Given the description of an element on the screen output the (x, y) to click on. 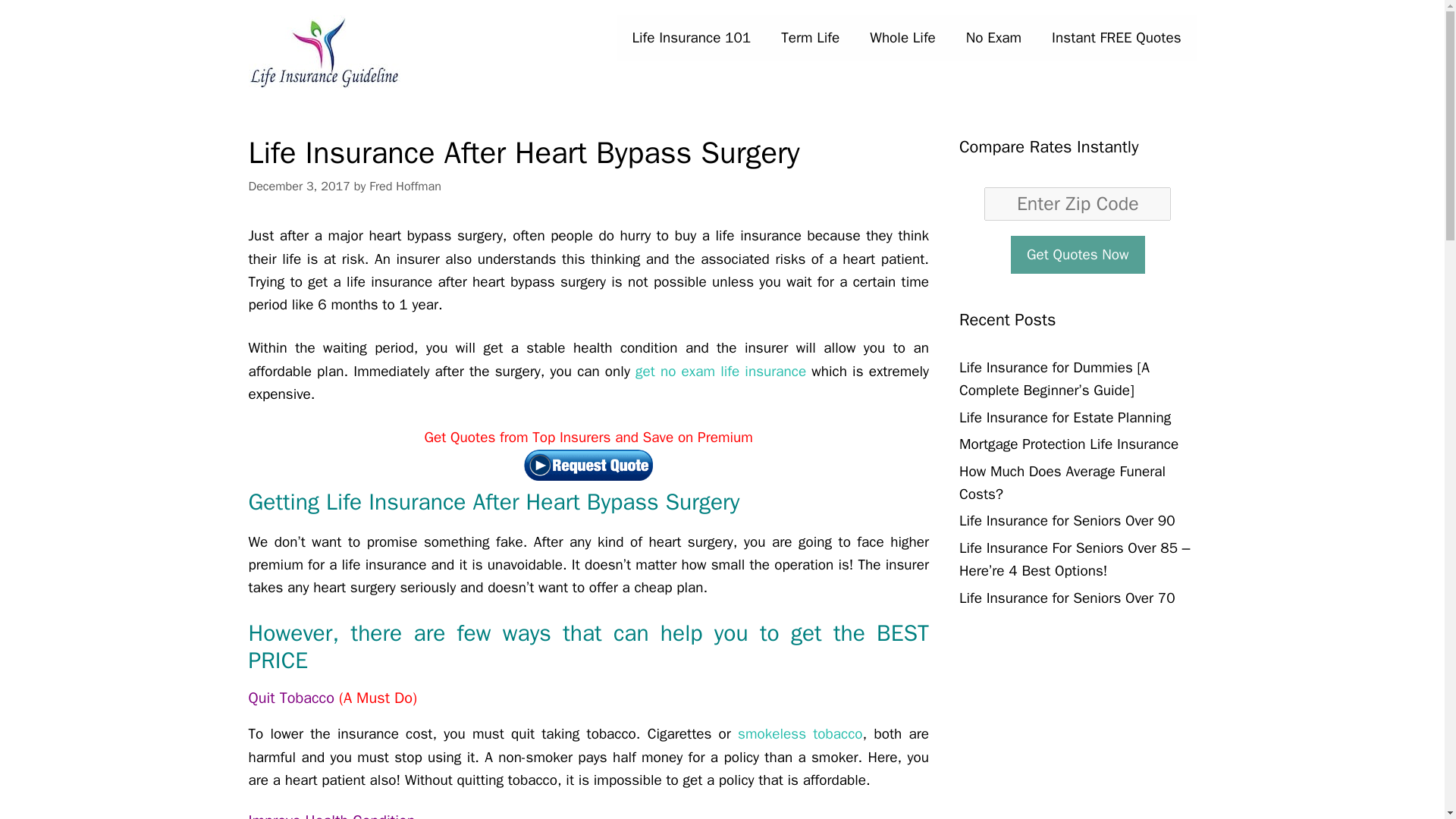
Life Insurance for Estate Planning (1064, 417)
Fred Hoffman (405, 186)
How Much Does Average Funeral Costs? (1062, 482)
Life Insurance Guideline (324, 51)
No Exam (993, 37)
Get Quotes Now (1077, 254)
View all posts by Fred Hoffman (405, 186)
Life Insurance for Seniors Over 90 (1066, 520)
Life Insurance Guideline (324, 52)
Mortgage Protection Life Insurance (1068, 443)
